Given the description of an element on the screen output the (x, y) to click on. 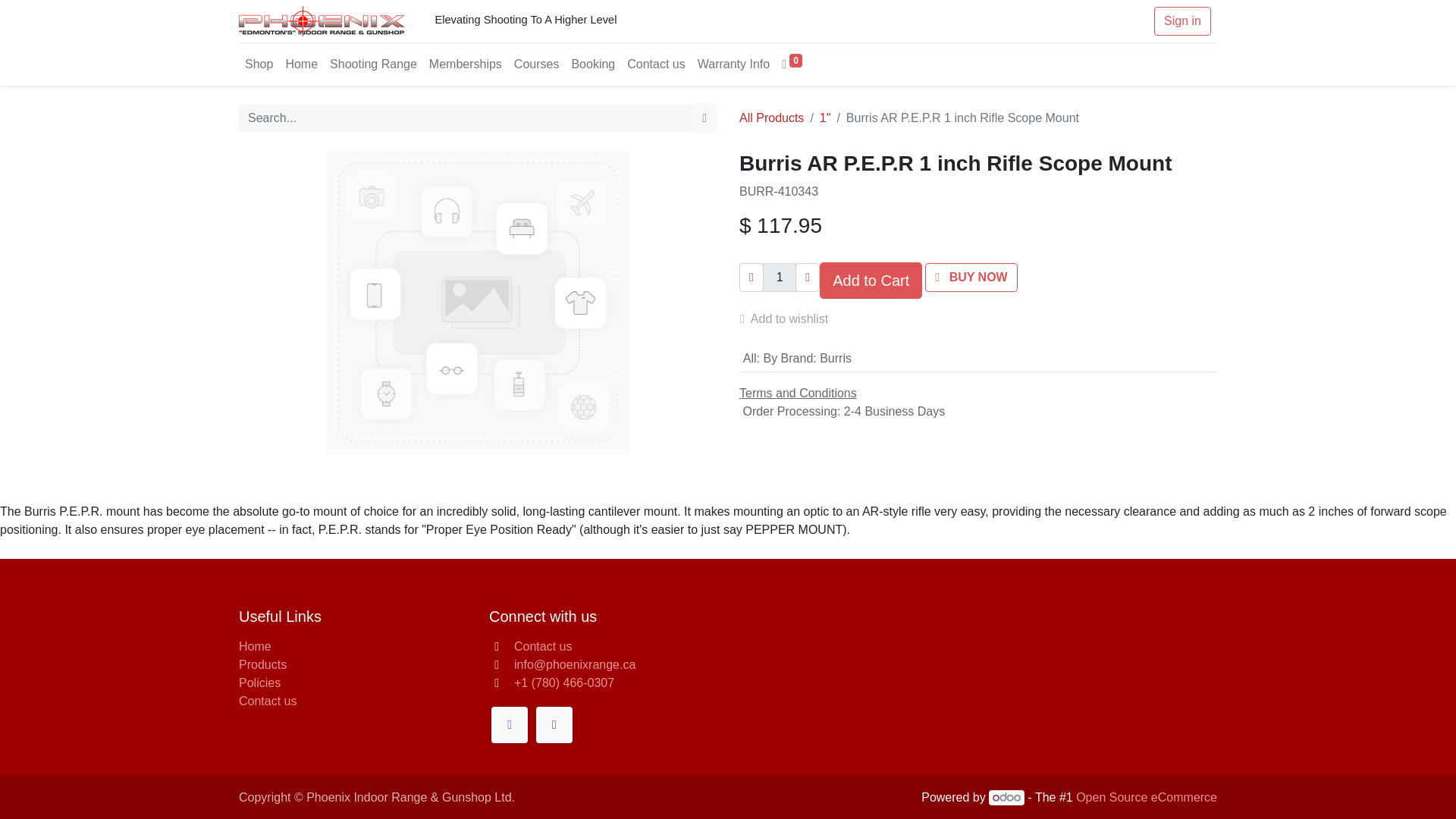
Contact us (542, 645)
All Products (771, 117)
0 (792, 64)
1 (779, 276)
Add to Cart (870, 280)
Contact us (267, 700)
Contact us (655, 64)
Memberships (465, 64)
Products (262, 664)
Add to wishlist (790, 318)
Courses (537, 64)
Add to wishlist (790, 318)
Home (301, 64)
Shooting Range (373, 64)
BUY NOW (970, 276)
